Given the description of an element on the screen output the (x, y) to click on. 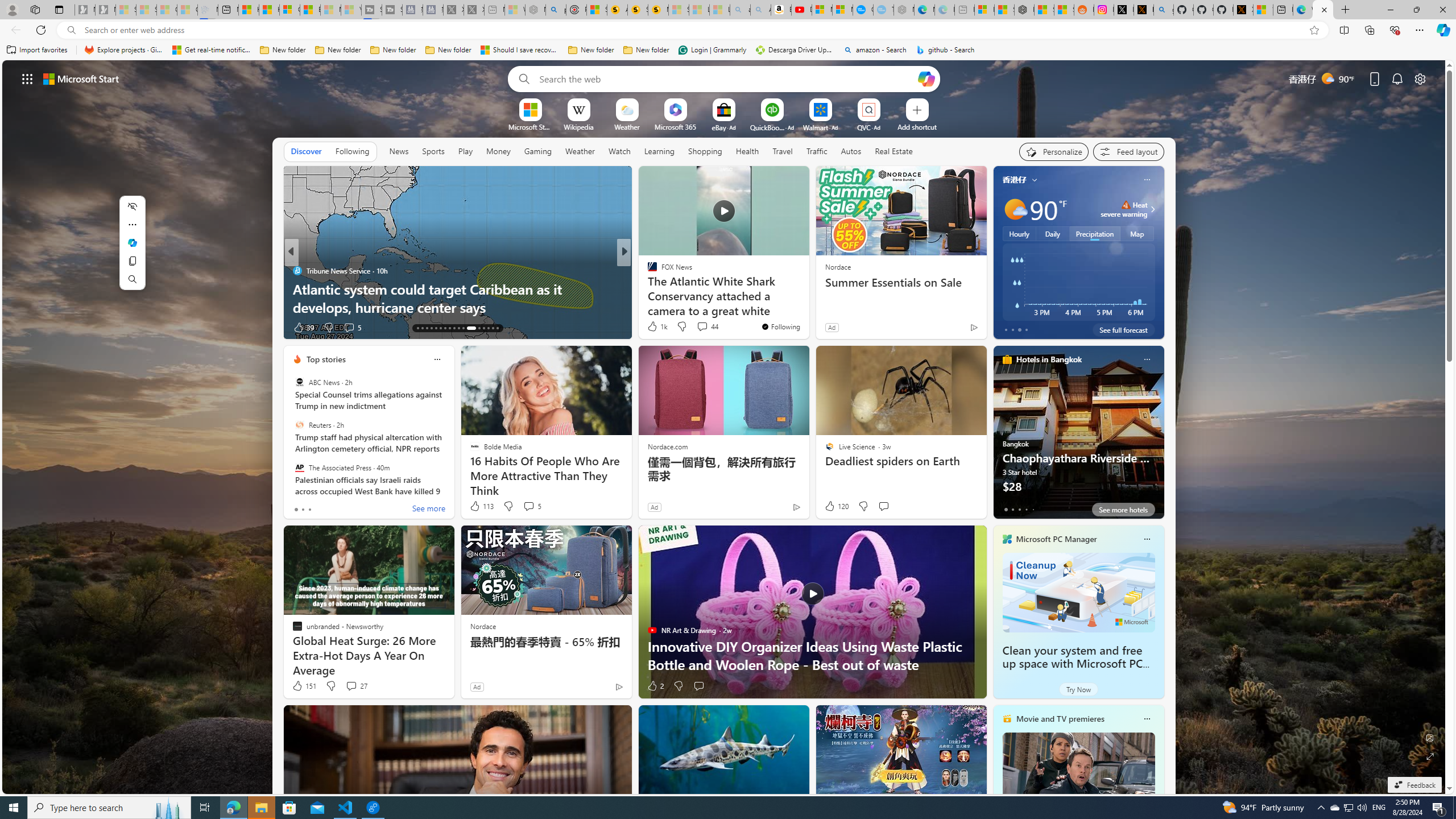
Expand background (1430, 756)
Hide menu (132, 206)
AutomationID: tab-29 (497, 328)
Opinion: Op-Ed and Commentary - USA TODAY (862, 9)
My location (1033, 179)
Precipitation (1094, 233)
App launcher (27, 78)
AutomationID: tab-18 (440, 328)
